Given the description of an element on the screen output the (x, y) to click on. 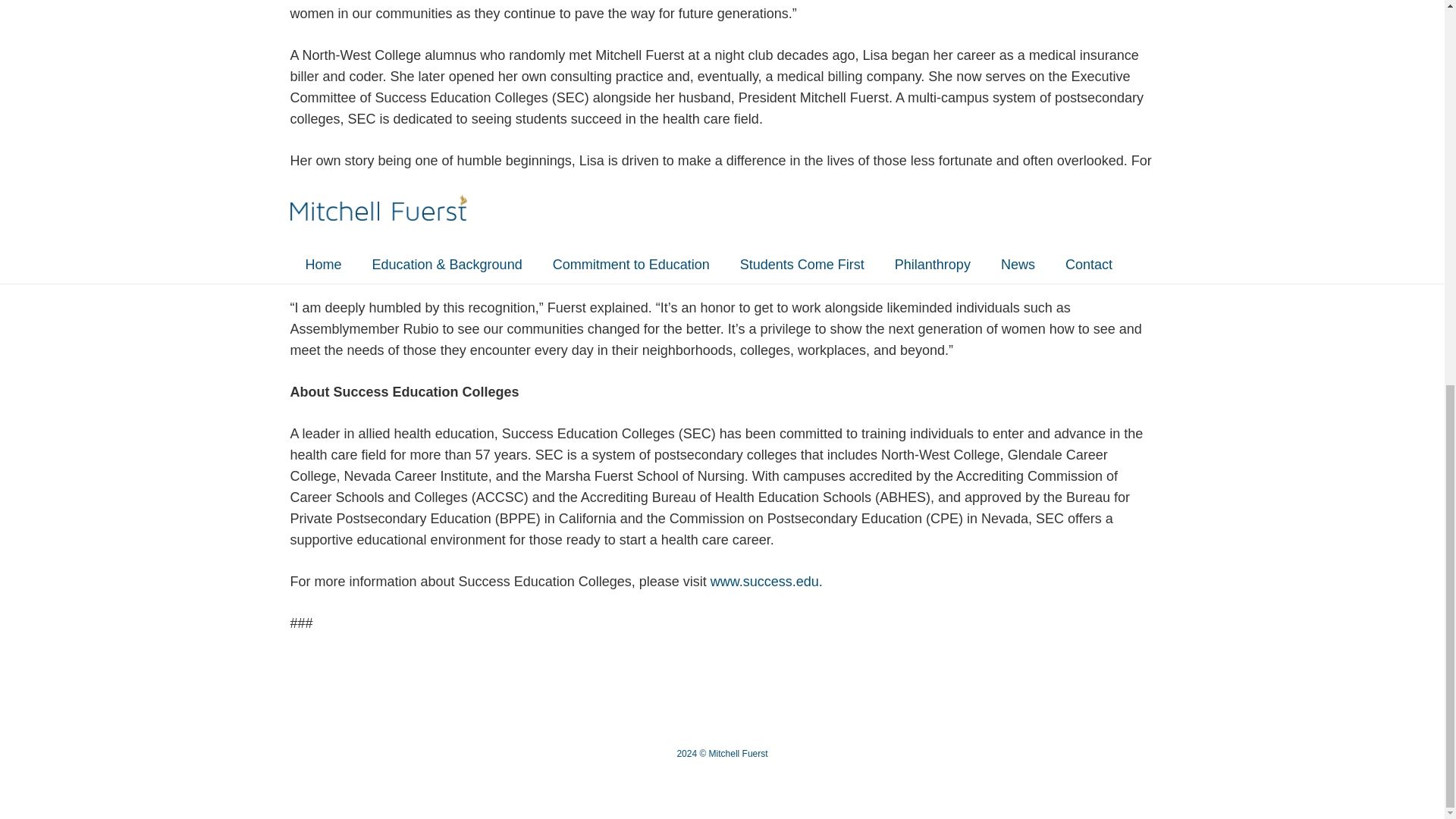
www.success.edu. (766, 581)
